Given the description of an element on the screen output the (x, y) to click on. 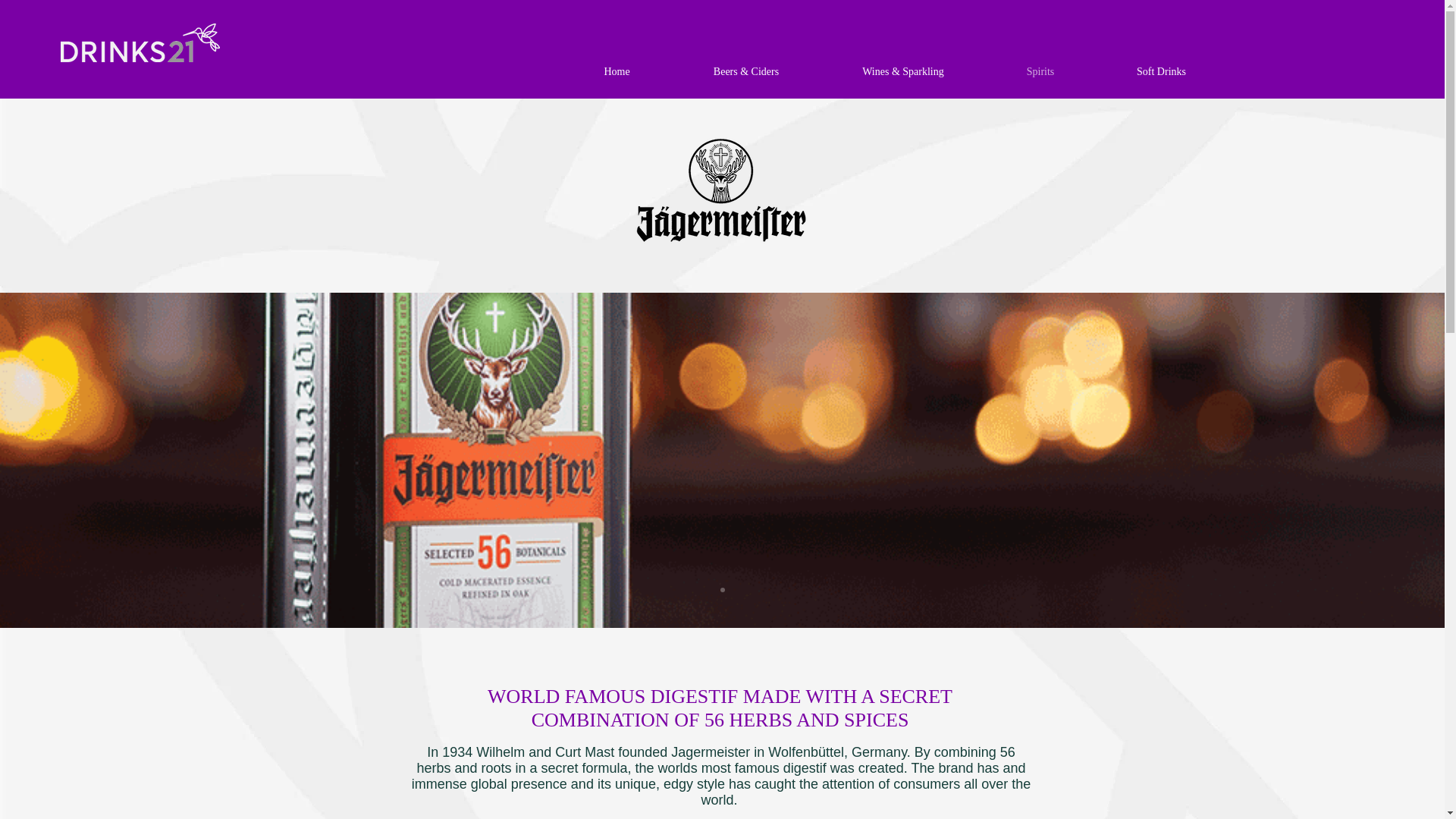
Home (616, 71)
Soft Drinks (1160, 71)
Spirits (1040, 71)
